Given the description of an element on the screen output the (x, y) to click on. 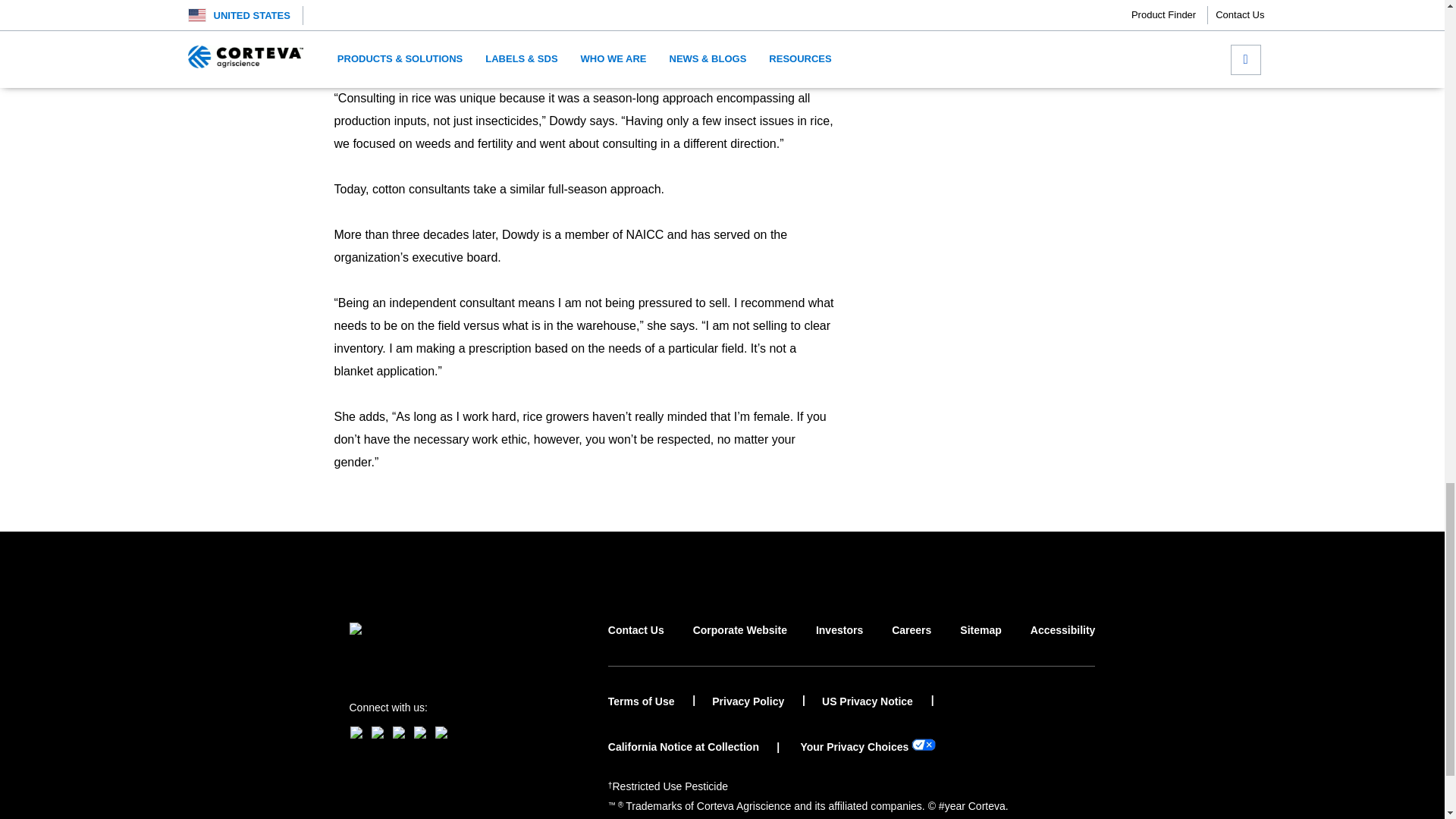
Terms of Use (651, 701)
US Privacy Notice (878, 701)
Contact Us (635, 643)
Investors (839, 643)
Corporate Website (740, 643)
Sitemap (980, 643)
Privacy Policy (758, 701)
Accessibility (1063, 643)
Legals (669, 786)
Careers (911, 643)
